Given the description of an element on the screen output the (x, y) to click on. 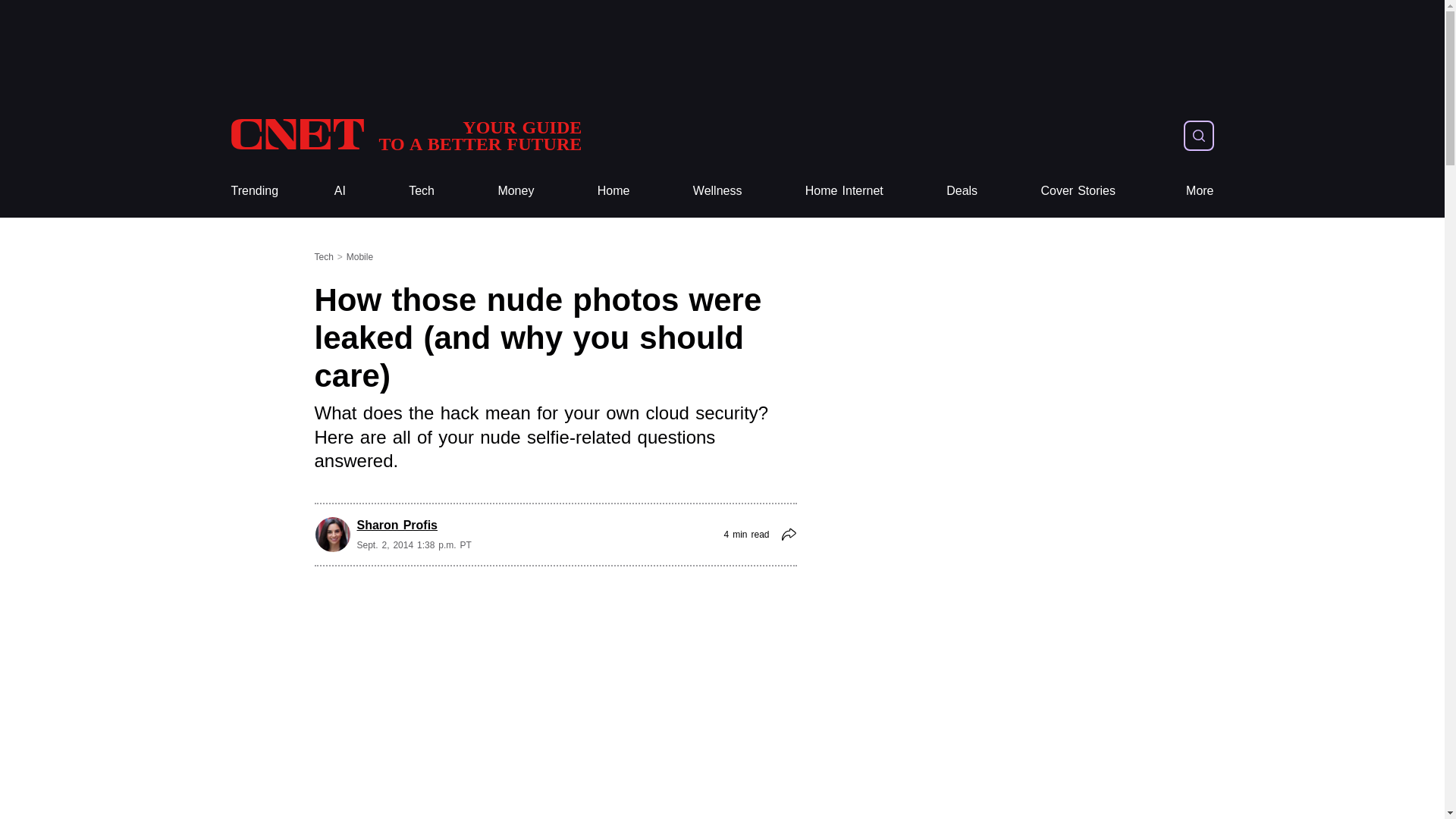
Home (613, 190)
Trending (254, 190)
Trending (254, 190)
Tech (421, 190)
Money (515, 190)
Wellness (717, 190)
Home Internet (844, 190)
More (1199, 190)
Cover Stories (1078, 190)
